Given the description of an element on the screen output the (x, y) to click on. 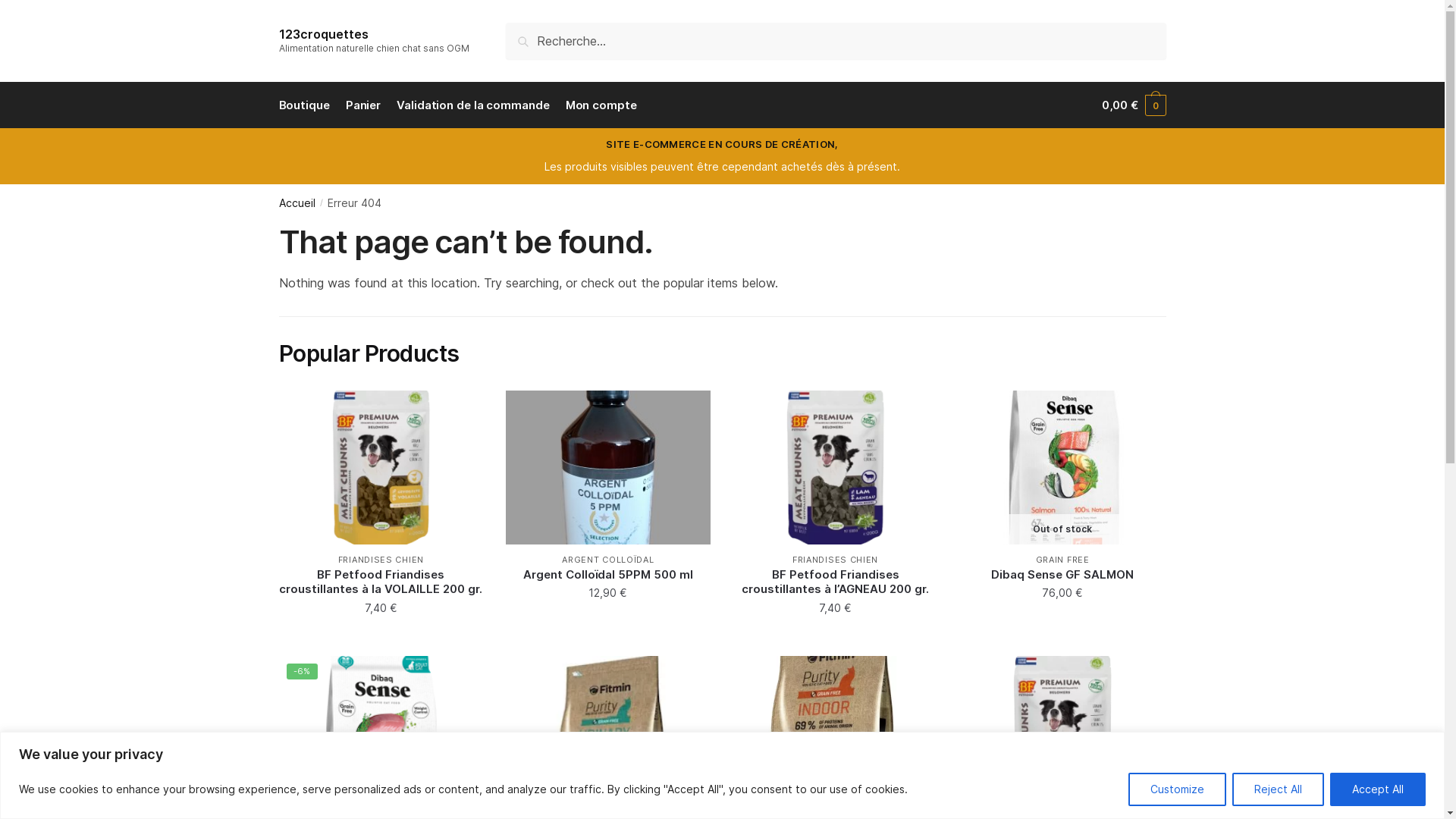
Out of stock Element type: text (1062, 466)
Dibaq Sense GF SALMON Element type: text (1062, 574)
Mon compte Element type: text (600, 105)
123croquettes Element type: text (323, 33)
GRAIN FREE Element type: text (1062, 559)
Recherche Element type: text (555, 39)
FRIANDISES CHIEN Element type: text (380, 559)
Validation de la commande Element type: text (473, 105)
Boutique Element type: text (307, 105)
Customize Element type: text (1177, 788)
Panier Element type: text (362, 105)
Accept All Element type: text (1377, 788)
Reject All Element type: text (1278, 788)
FRIANDISES CHIEN Element type: text (835, 559)
Accueil Element type: text (297, 202)
